Given the description of an element on the screen output the (x, y) to click on. 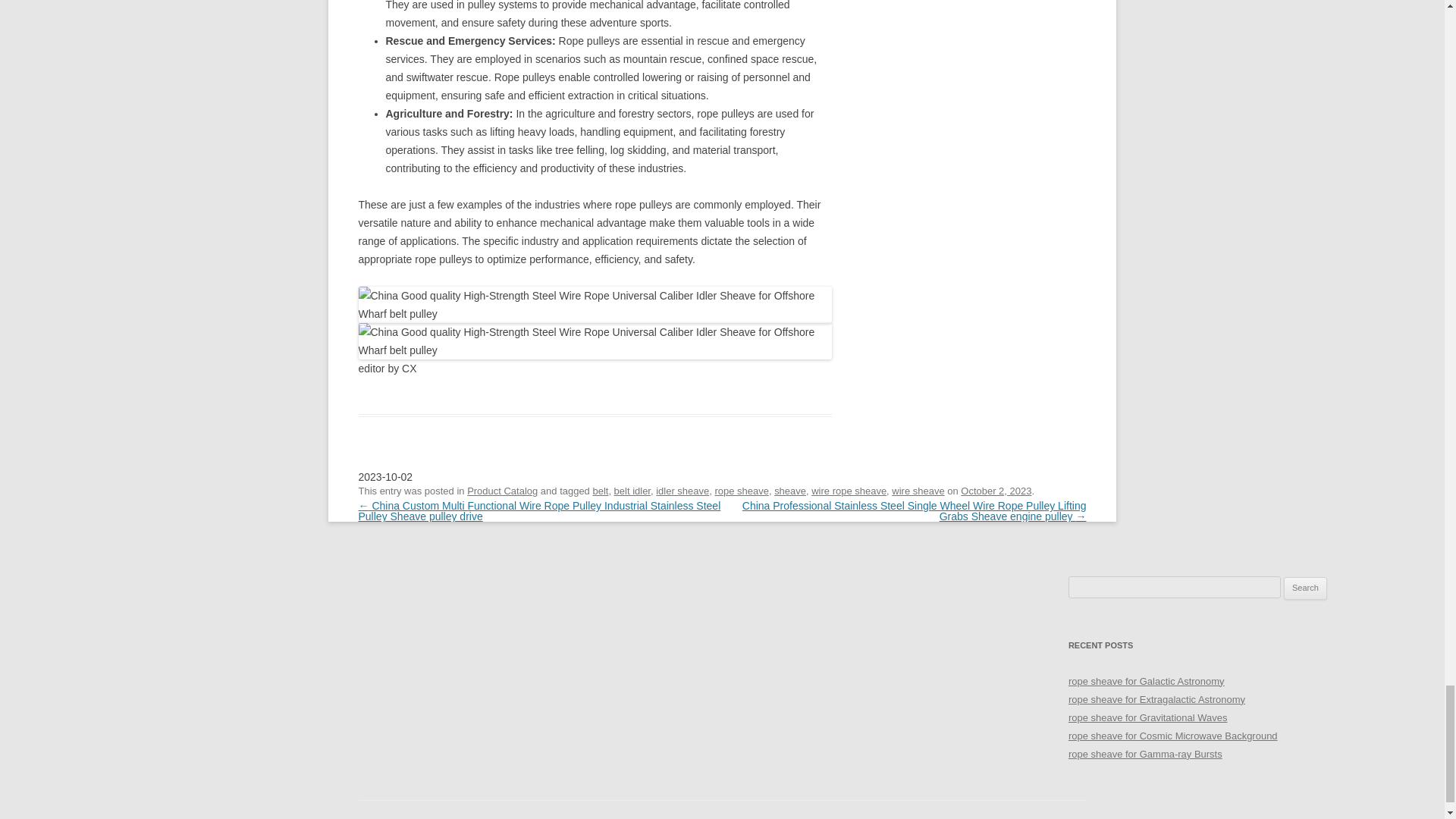
wire sheave (917, 490)
Product Catalog (502, 490)
Search (1305, 588)
rope sheave for Cosmic Microwave Background (1173, 736)
belt (600, 490)
wire rope sheave (848, 490)
9:07 am (995, 490)
rope sheave for Galactic Astronomy (1146, 681)
rope sheave (741, 490)
rope sheave for Gamma-ray Bursts (1145, 754)
